Given the description of an element on the screen output the (x, y) to click on. 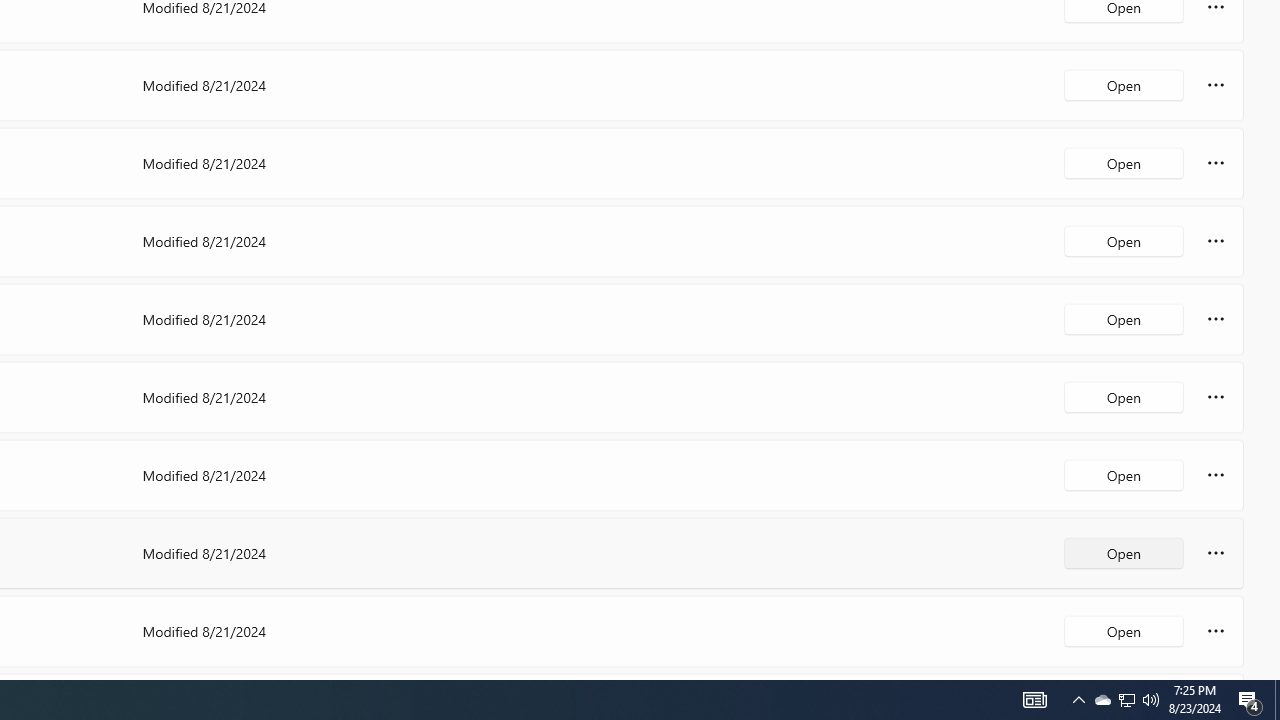
Open (1123, 630)
More options (1215, 630)
